Given the description of an element on the screen output the (x, y) to click on. 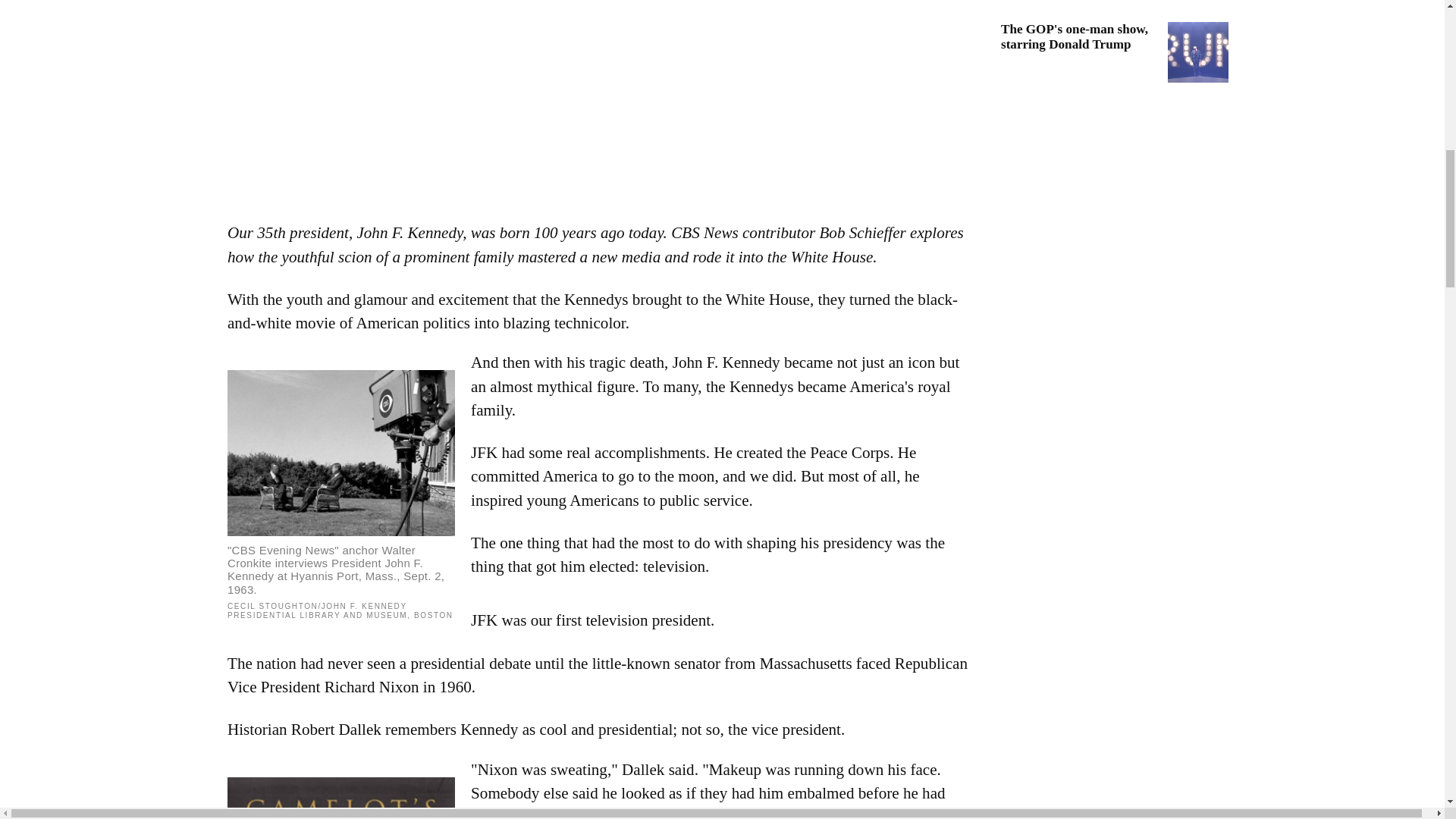
3rd party ad content (1114, 237)
